Given the description of an element on the screen output the (x, y) to click on. 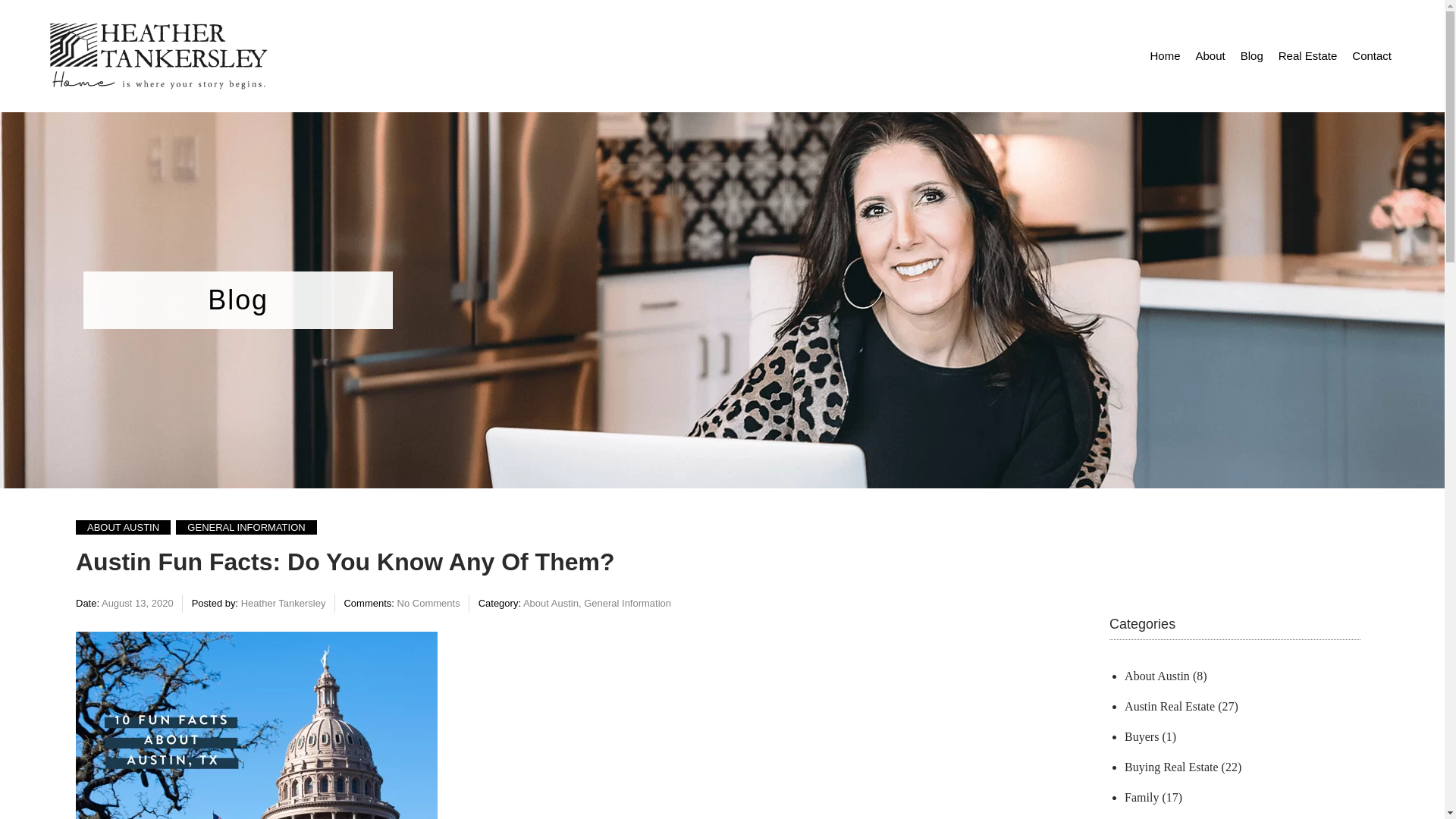
Blog (1252, 55)
Date: August 13, 2020 (124, 603)
Contact (1371, 55)
About Austin (550, 603)
Comments: No Comments (401, 603)
About Austin (1156, 675)
General Information (627, 603)
Buying Real Estate (1171, 766)
Real Estate (1308, 55)
Family (1141, 797)
Blog (237, 299)
ABOUT AUSTIN (122, 527)
GENERAL INFORMATION (245, 527)
Posted by: Heather Tankersley (259, 603)
Buyers (1141, 736)
